Given the description of an element on the screen output the (x, y) to click on. 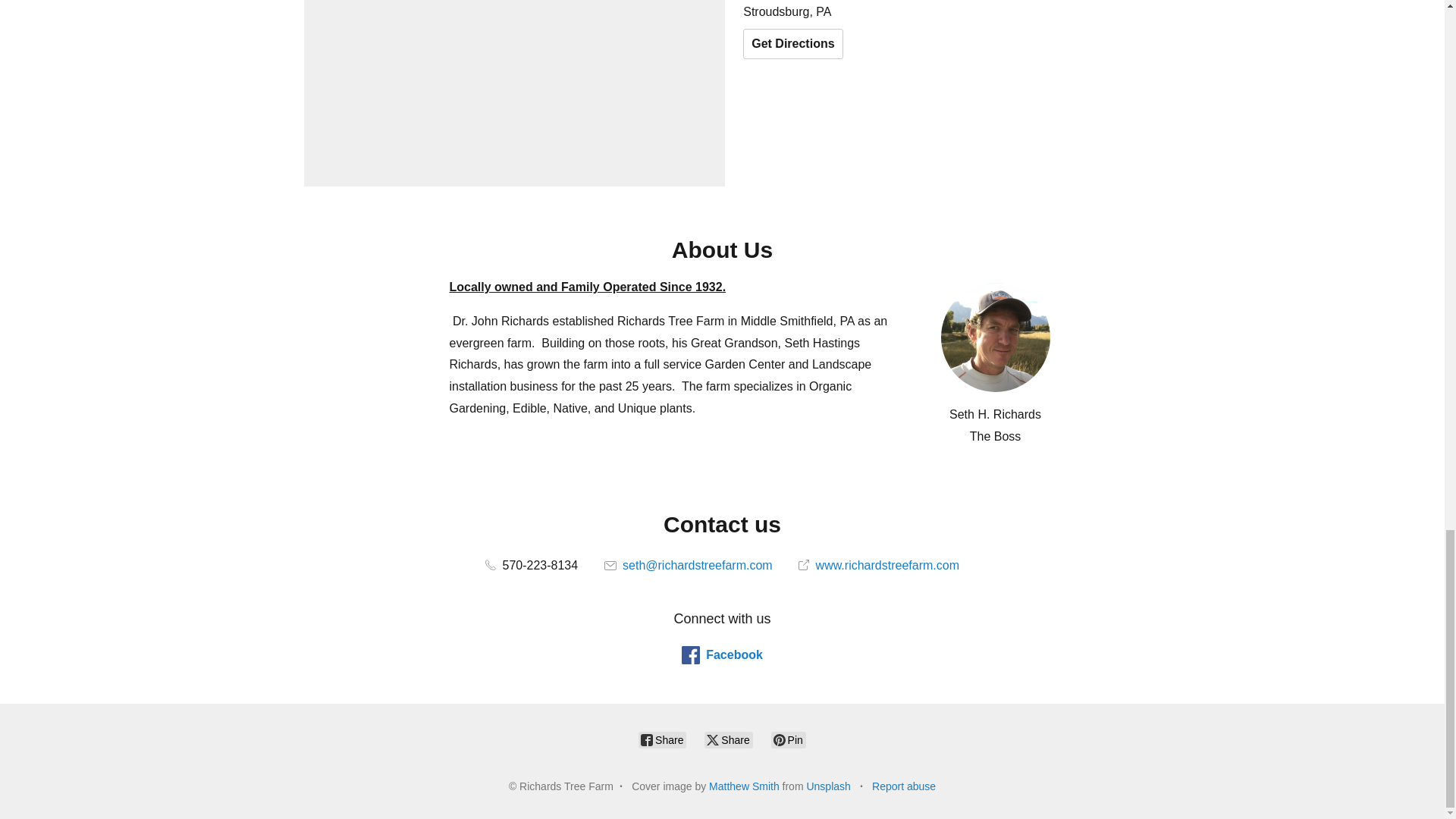
Unsplash (828, 786)
Report abuse (904, 786)
570-223-8134 (531, 564)
Location on map (513, 93)
Share (662, 740)
Share (728, 740)
www.richardstreefarm.com (878, 564)
Facebook (721, 655)
Matthew Smith (743, 786)
Get Directions (792, 43)
Pin (788, 740)
